Given the description of an element on the screen output the (x, y) to click on. 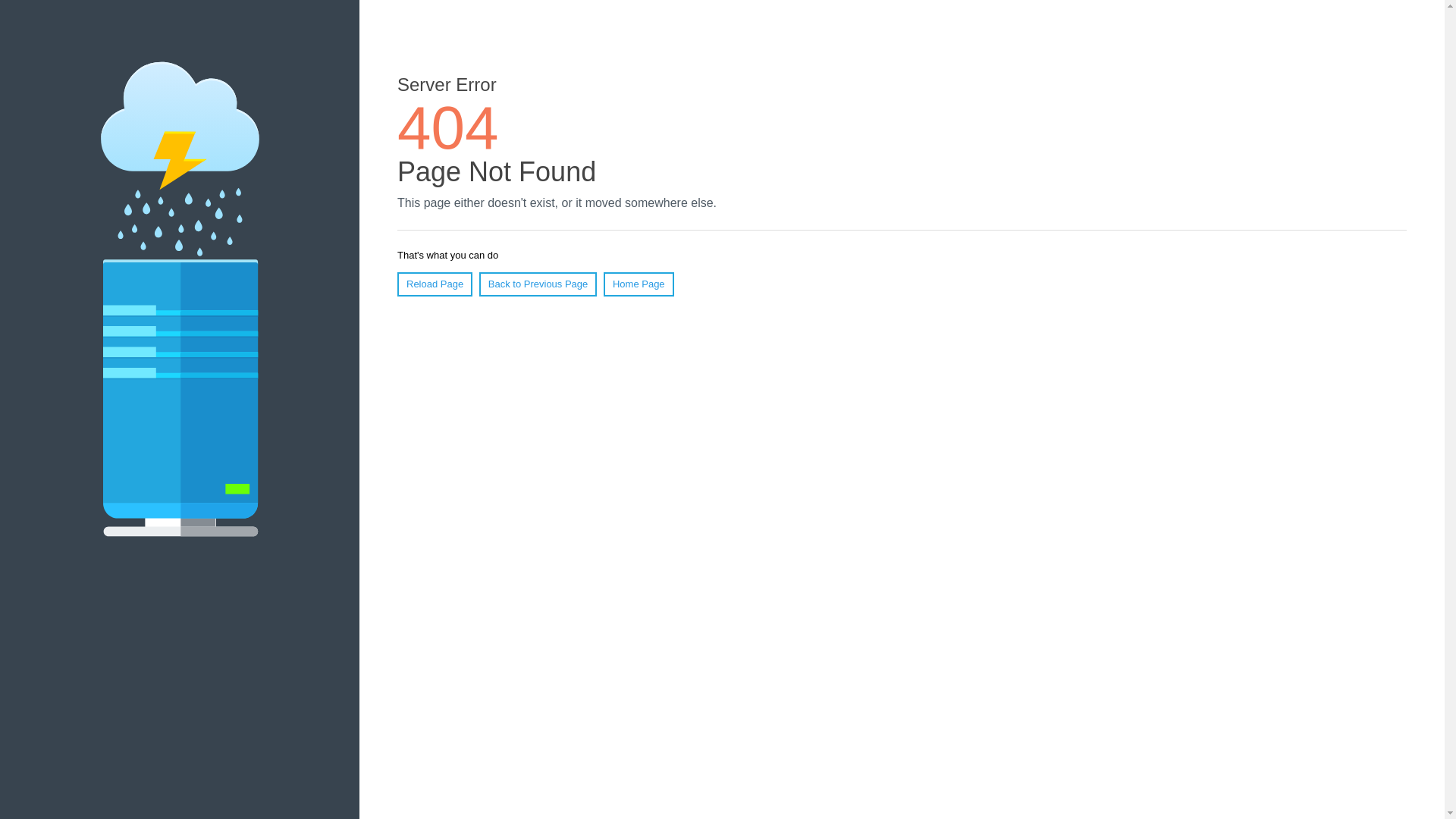
Back to Previous Page Element type: text (538, 284)
Reload Page Element type: text (434, 284)
Home Page Element type: text (638, 284)
